Given the description of an element on the screen output the (x, y) to click on. 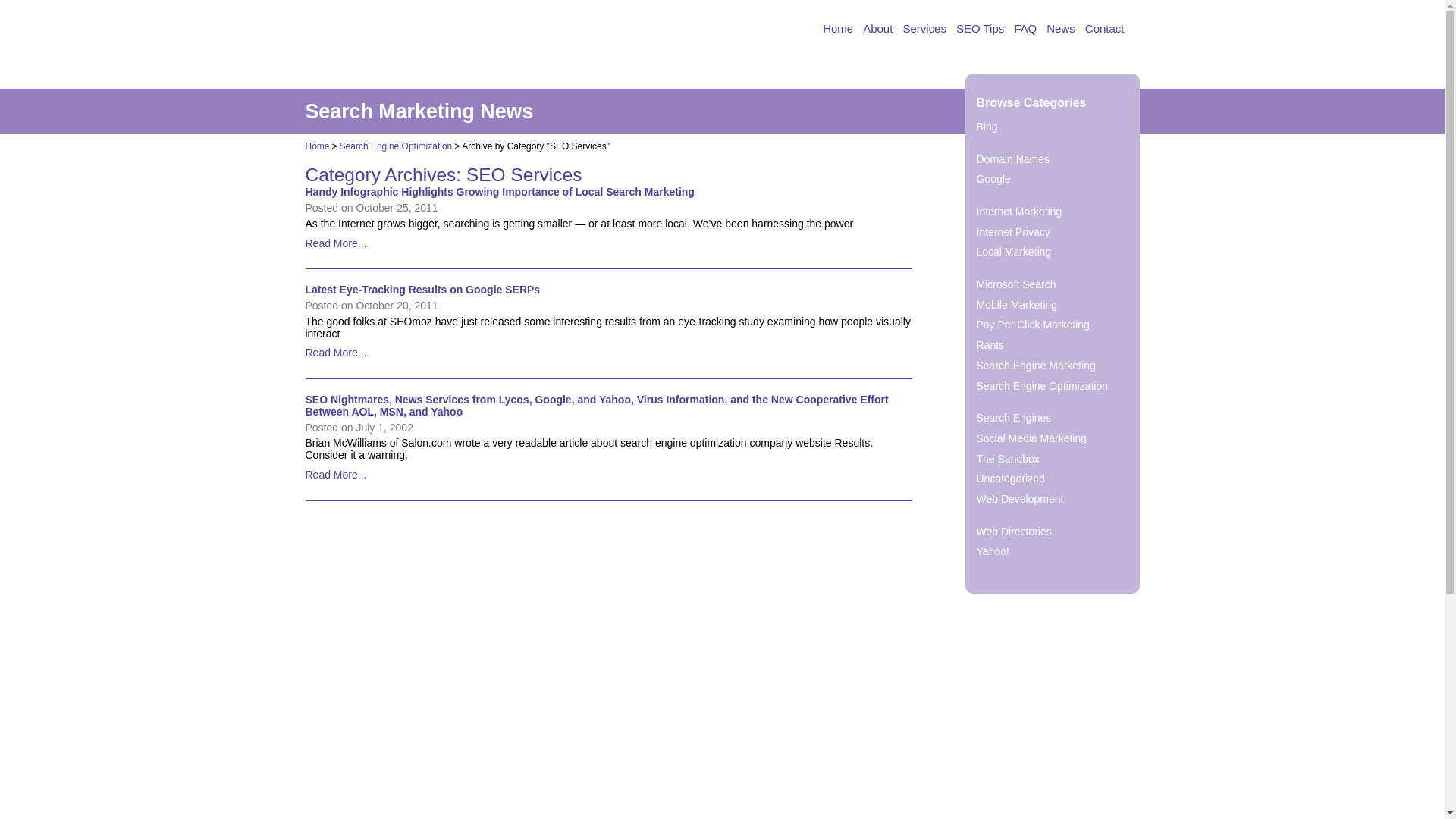
News (1060, 28)
Contact (1104, 28)
About (877, 28)
SEO Tips (980, 28)
Services (924, 28)
Home (837, 28)
FAQ (1024, 28)
